Given the description of an element on the screen output the (x, y) to click on. 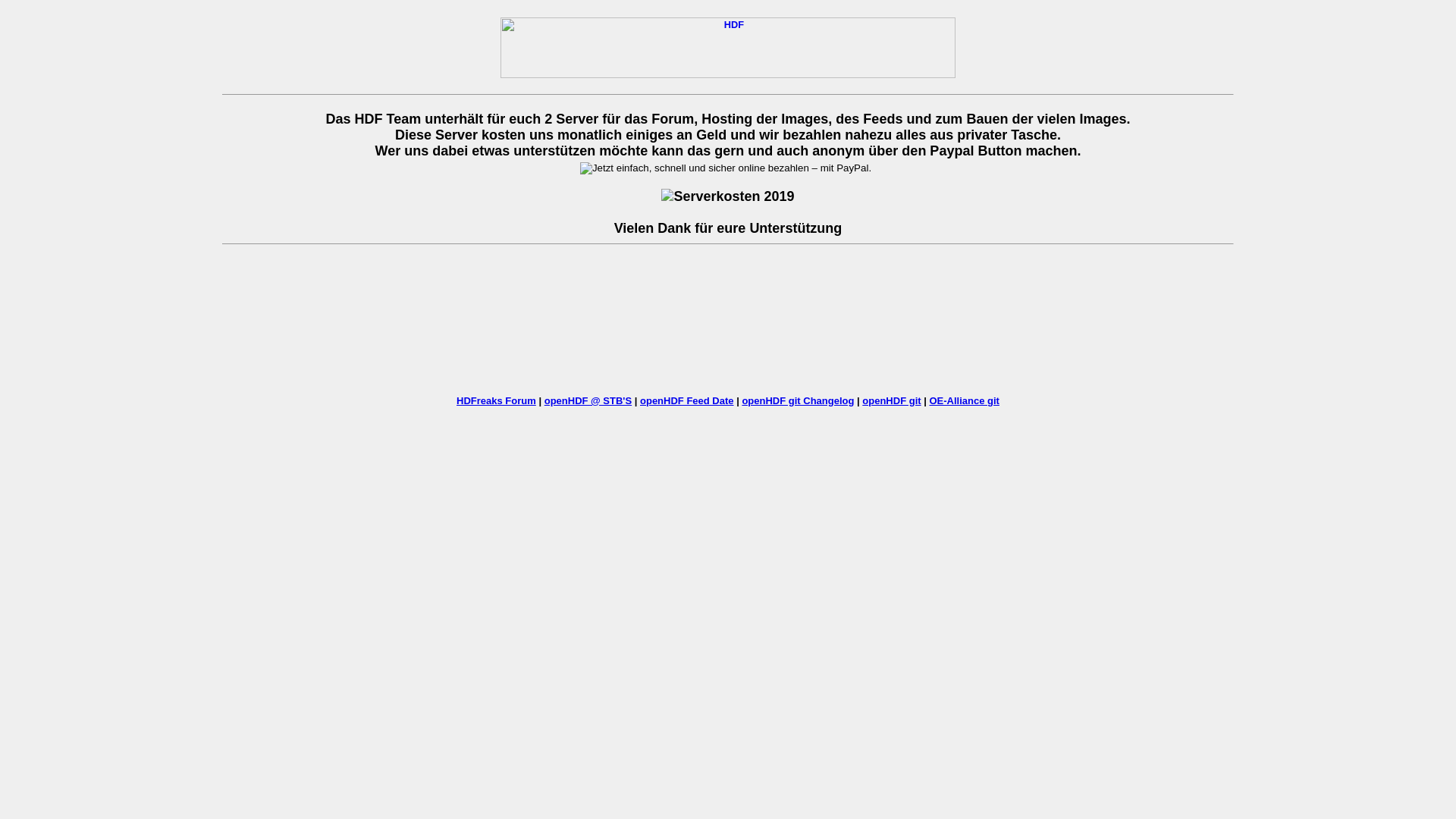
HDFreaks Forum Element type: text (496, 400)
OE-Alliance git Element type: text (963, 400)
openHDF @ STB'S Element type: text (587, 400)
openHDF Feed Date Element type: text (687, 400)
openHDF git Changelog Element type: text (797, 400)
openHDF git Element type: text (891, 400)
